Given the description of an element on the screen output the (x, y) to click on. 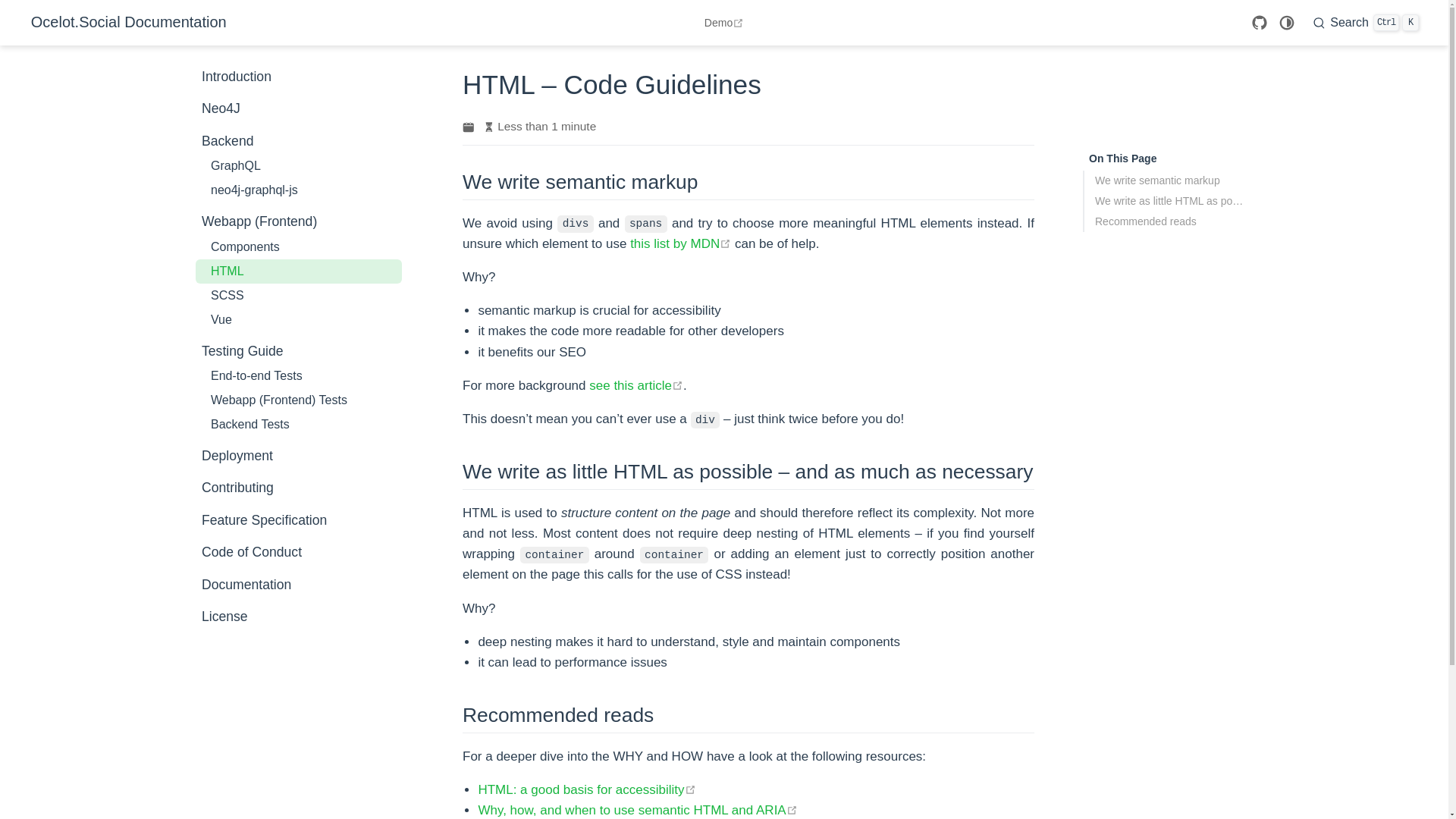
Testing Guide (299, 351)
HTML (298, 271)
Recommended reads (1170, 221)
Neo4J (1365, 22)
Ocelot.Social Documentation (298, 108)
Documentation (124, 22)
Components (298, 584)
Skip to main content (298, 247)
License (635, 385)
Vue (298, 519)
Backend (298, 616)
